Given the description of an element on the screen output the (x, y) to click on. 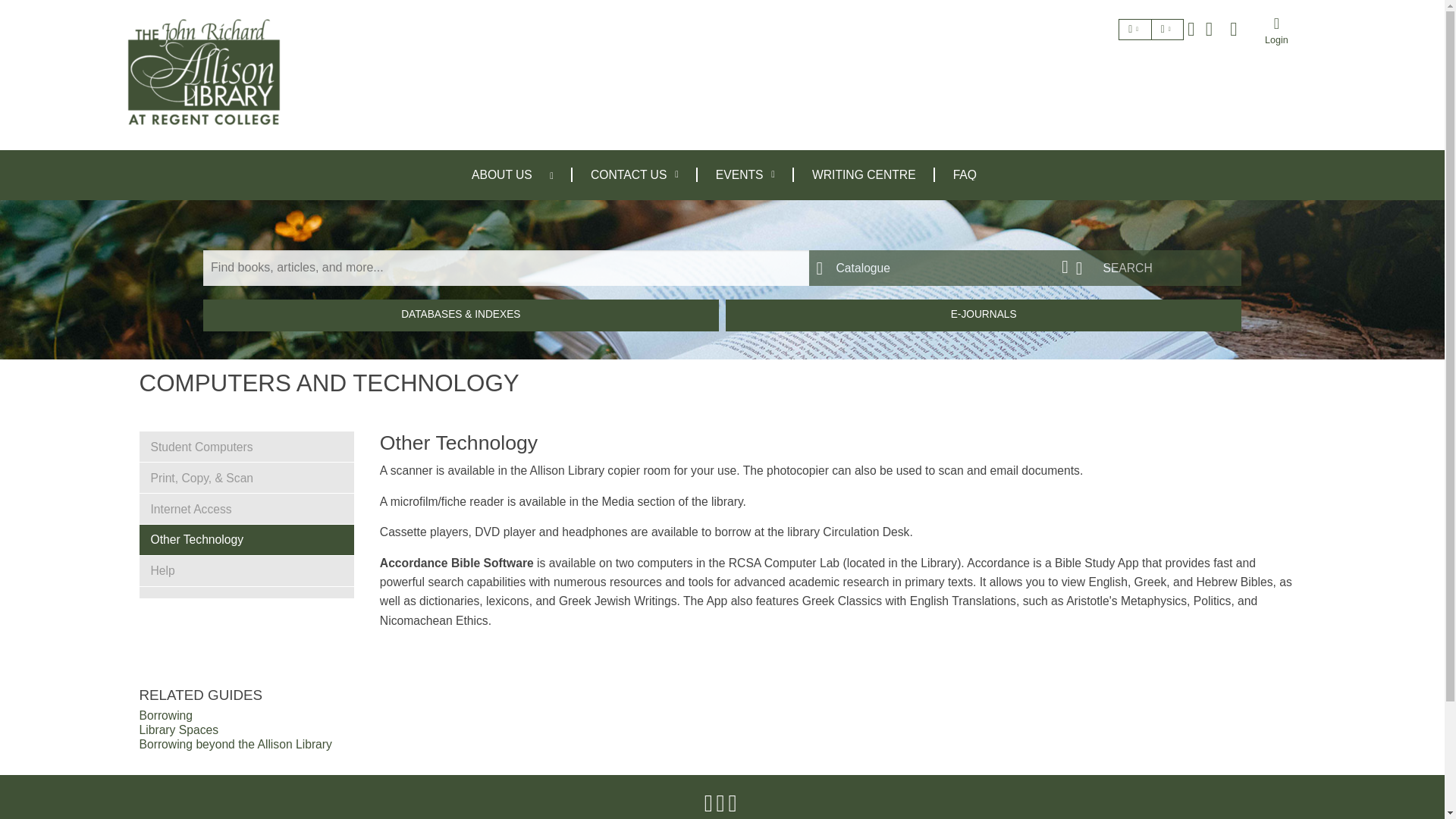
Login (1276, 30)
show submenu (560, 174)
ABOUT US (501, 174)
CONTACT US (633, 174)
Home (203, 71)
increase font size (1134, 28)
EVENTS (744, 174)
Search (1154, 267)
decrease font size (1167, 28)
